Given the description of an element on the screen output the (x, y) to click on. 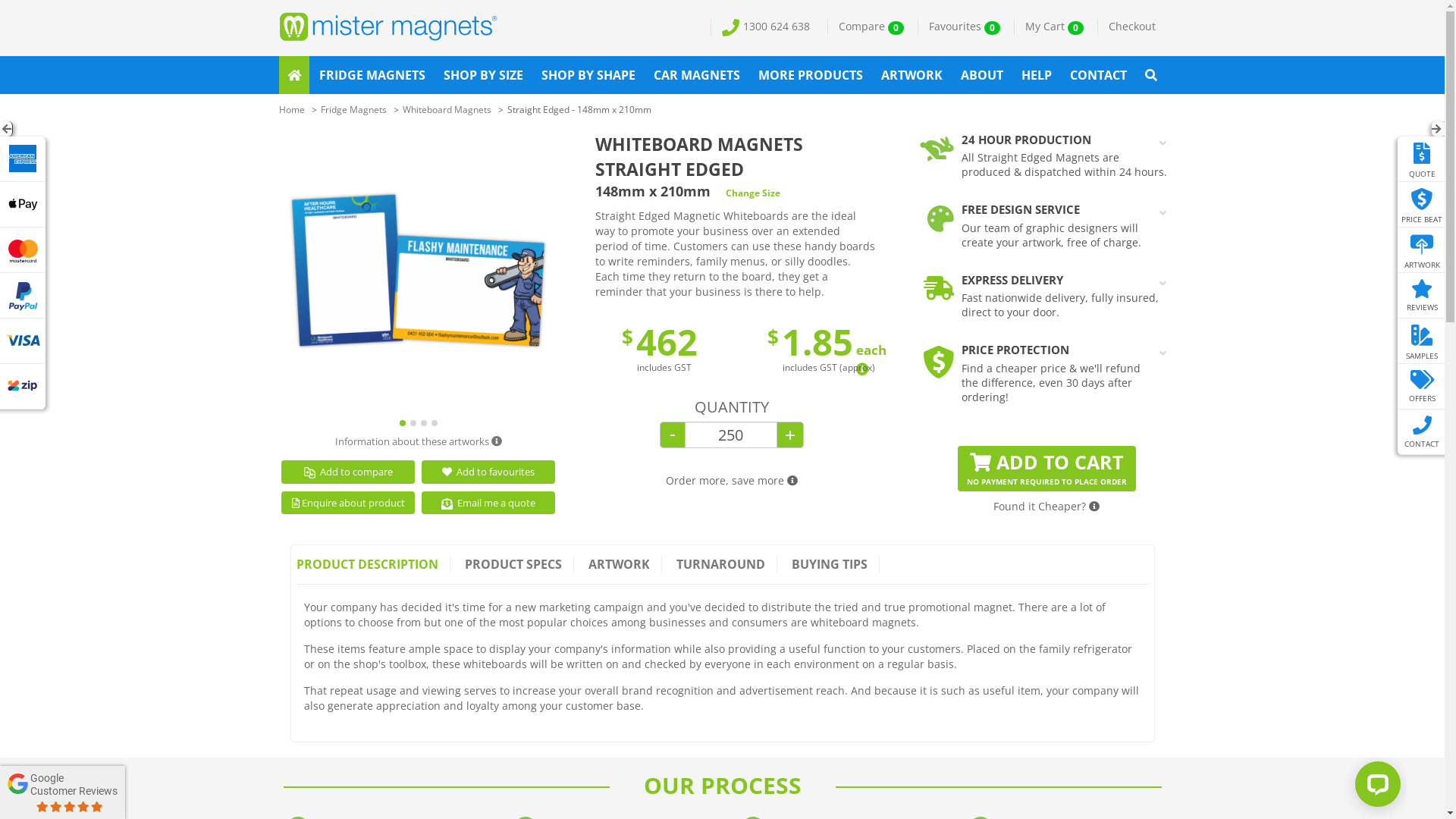
Home Element type: text (291, 109)
ABOUT Element type: text (981, 75)
ARTWORK Element type: text (618, 564)
MORE PRODUCTS Element type: text (810, 75)
+ Element type: text (789, 434)
ADD TO CART
NO PAYMENT REQUIRED TO PLACE ORDER Element type: text (1046, 468)
Fridge Magnets Element type: text (352, 109)
FRIDGE MAGNETS Element type: text (371, 75)
Favourites 0 Element type: text (963, 26)
Checkout Element type: text (1130, 26)
SHOP BY SHAPE Element type: text (588, 75)
1300 624 638 Element type: text (764, 27)
CAR MAGNETS Element type: text (696, 75)
PRODUCT SPECS Element type: text (513, 564)
Compare 0 Element type: text (869, 26)
ARTWORK Element type: text (911, 75)
REVIEWS Element type: text (1421, 298)
Whiteboard Magnets Element type: text (445, 109)
SHOP BY SIZE Element type: text (483, 75)
HELP Element type: text (1036, 75)
- Element type: text (671, 434)
TURNAROUND Element type: text (720, 564)
CONTACT Element type: text (1098, 75)
PRODUCT DESCRIPTION Element type: text (372, 564)
BUYING TIPS Element type: text (828, 564)
SAMPLES Element type: text (1421, 344)
Information about these artworks  Element type: text (418, 440)
My Cart 0 Element type: text (1053, 26)
